Given the description of an element on the screen output the (x, y) to click on. 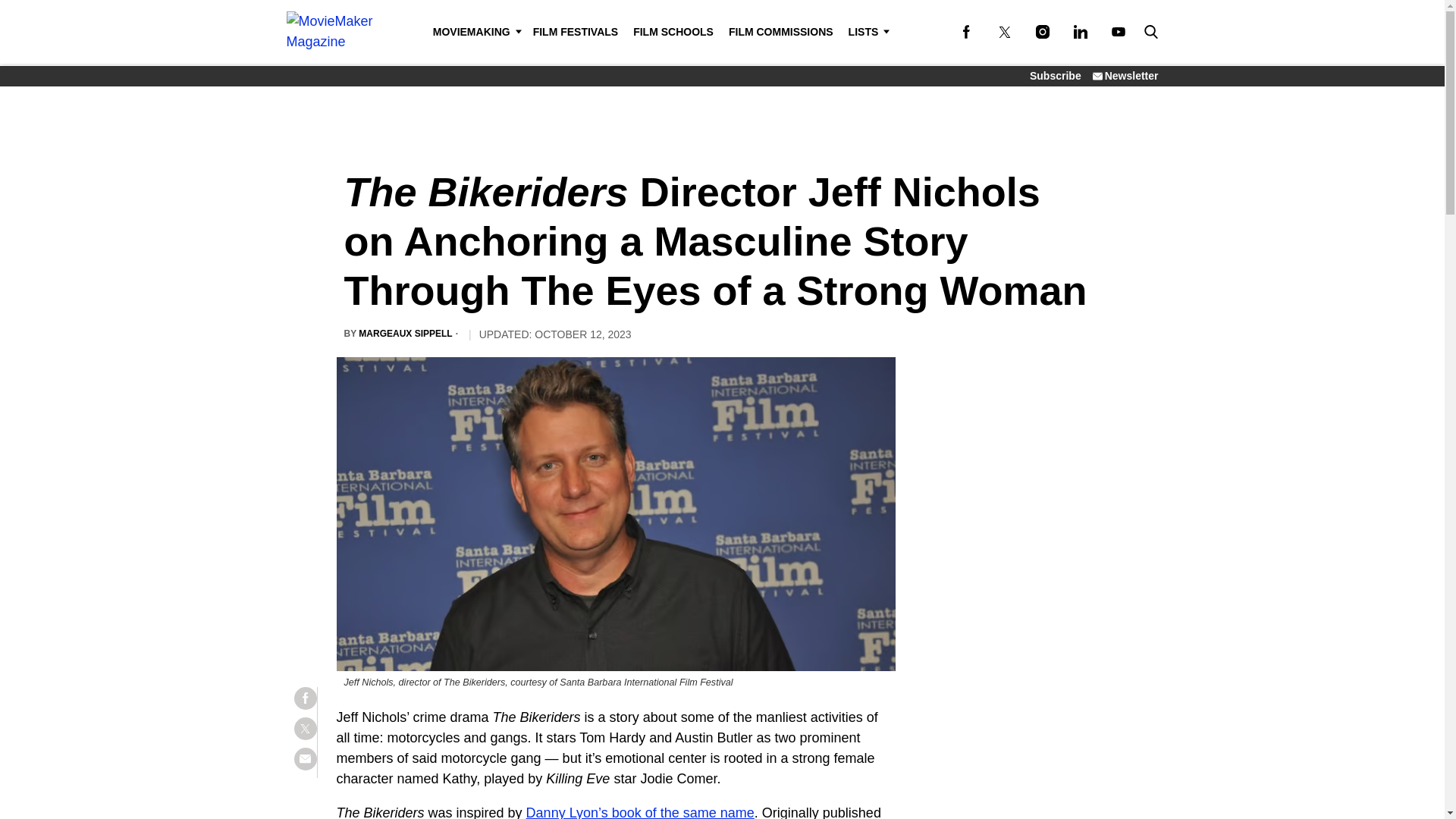
Subscribe (1055, 76)
Posts by Margeaux Sippell (404, 333)
Newsletter (1125, 76)
Share on Twitter (305, 728)
FILM SCHOOLS (673, 31)
MARGEAUX SIPPELL (404, 333)
FILM COMMISSIONS (780, 31)
Share on Facebook (305, 698)
MOVIEMAKING (475, 31)
FILM FESTIVALS (575, 31)
